Given the description of an element on the screen output the (x, y) to click on. 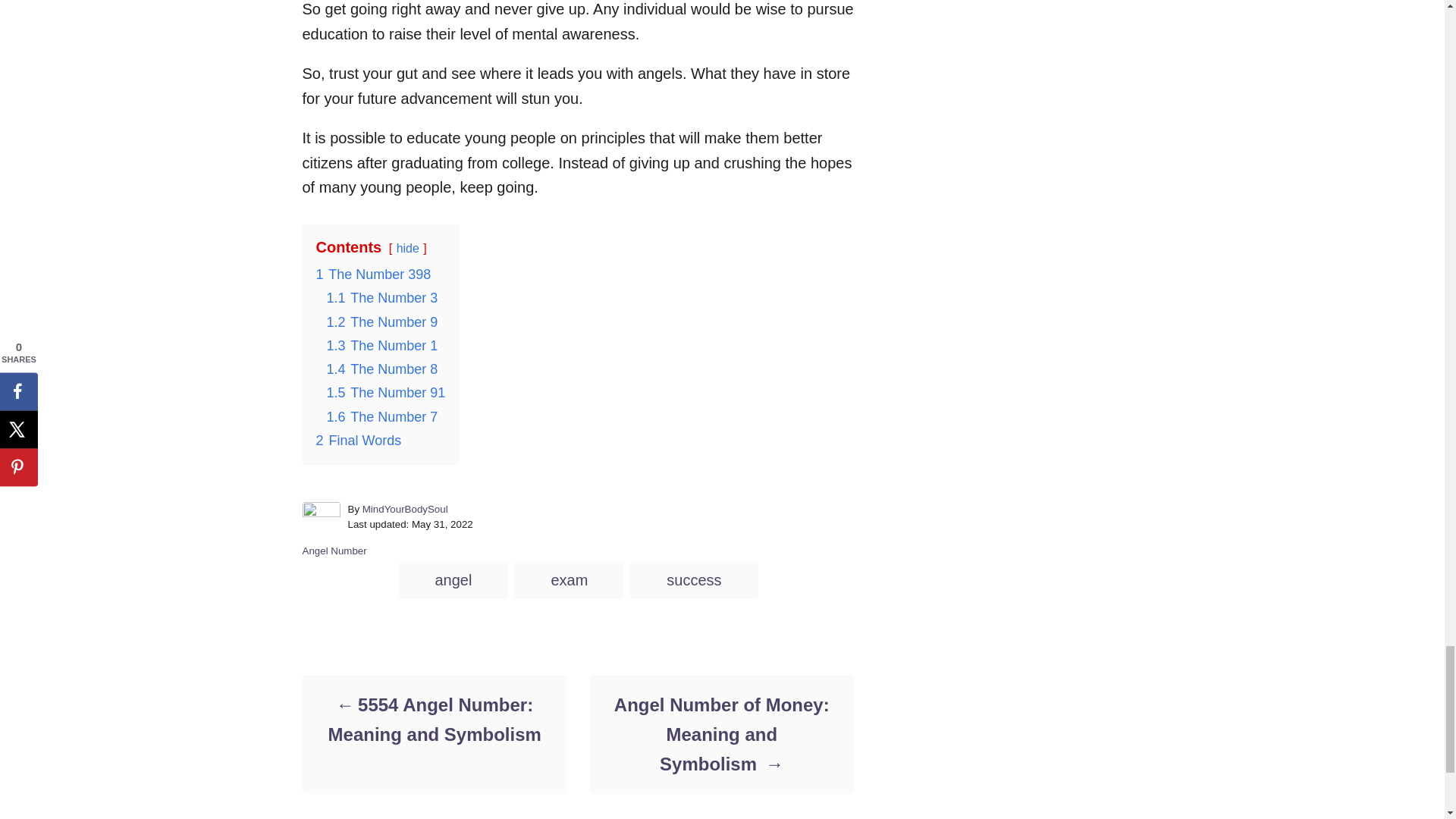
1.5 The Number 91 (385, 392)
1 The Number 398 (372, 273)
2 Final Words (358, 440)
1.3 The Number 1 (382, 345)
MindYourBodySoul (405, 509)
5554 Angel Number: Meaning and Symbolism (434, 719)
Angel Number of Money: Meaning and Symbolism  (721, 734)
1.6 The Number 7 (382, 417)
exam (568, 579)
1.1 The Number 3 (382, 297)
Angel Number (333, 550)
1.2 The Number 9 (382, 322)
1.4 The Number 8 (382, 368)
angel (452, 579)
hide (407, 247)
